Given the description of an element on the screen output the (x, y) to click on. 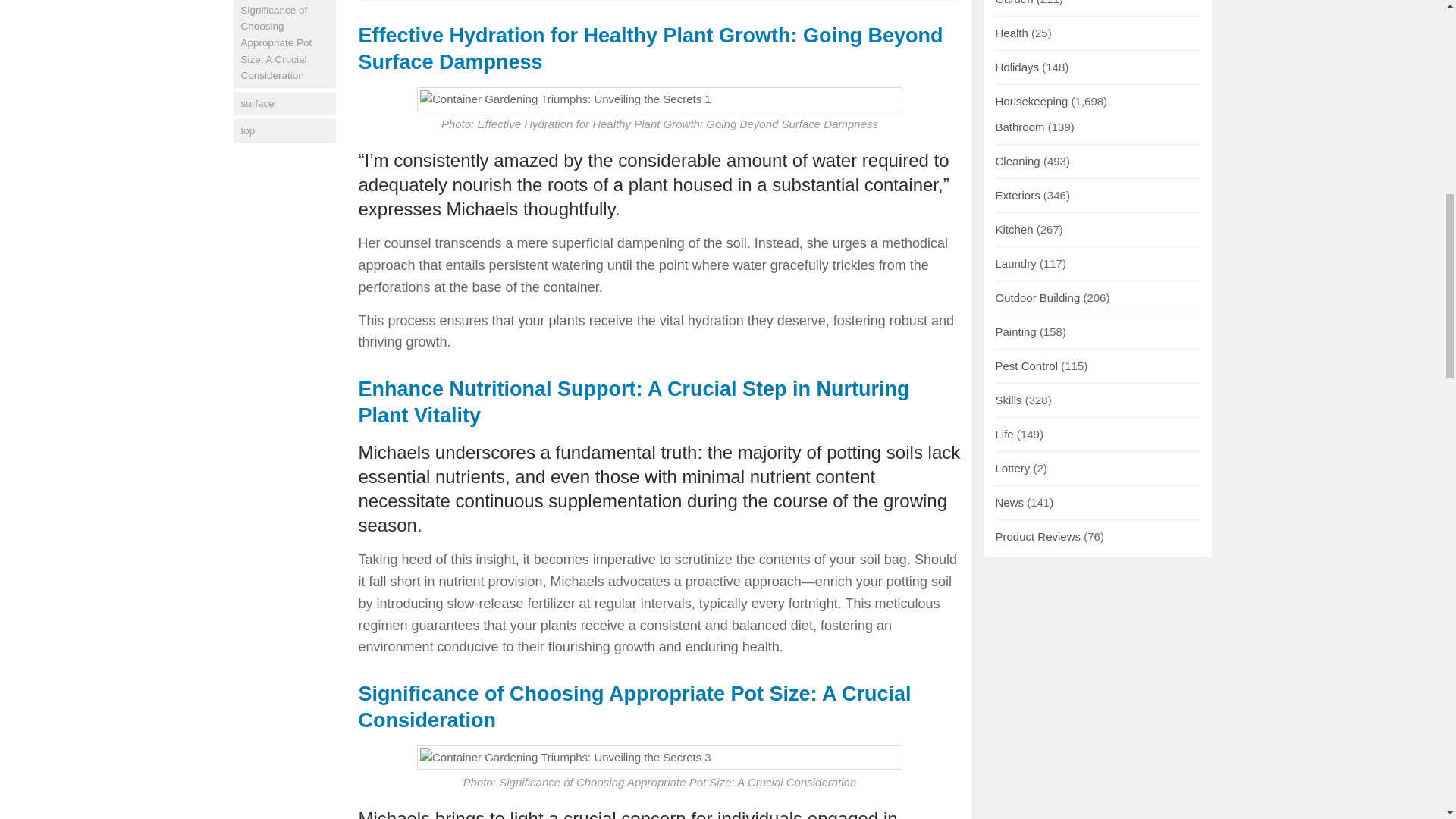
Container Gardening Triumphs: Unveiling the Secrets 1 (659, 98)
